Given the description of an element on the screen output the (x, y) to click on. 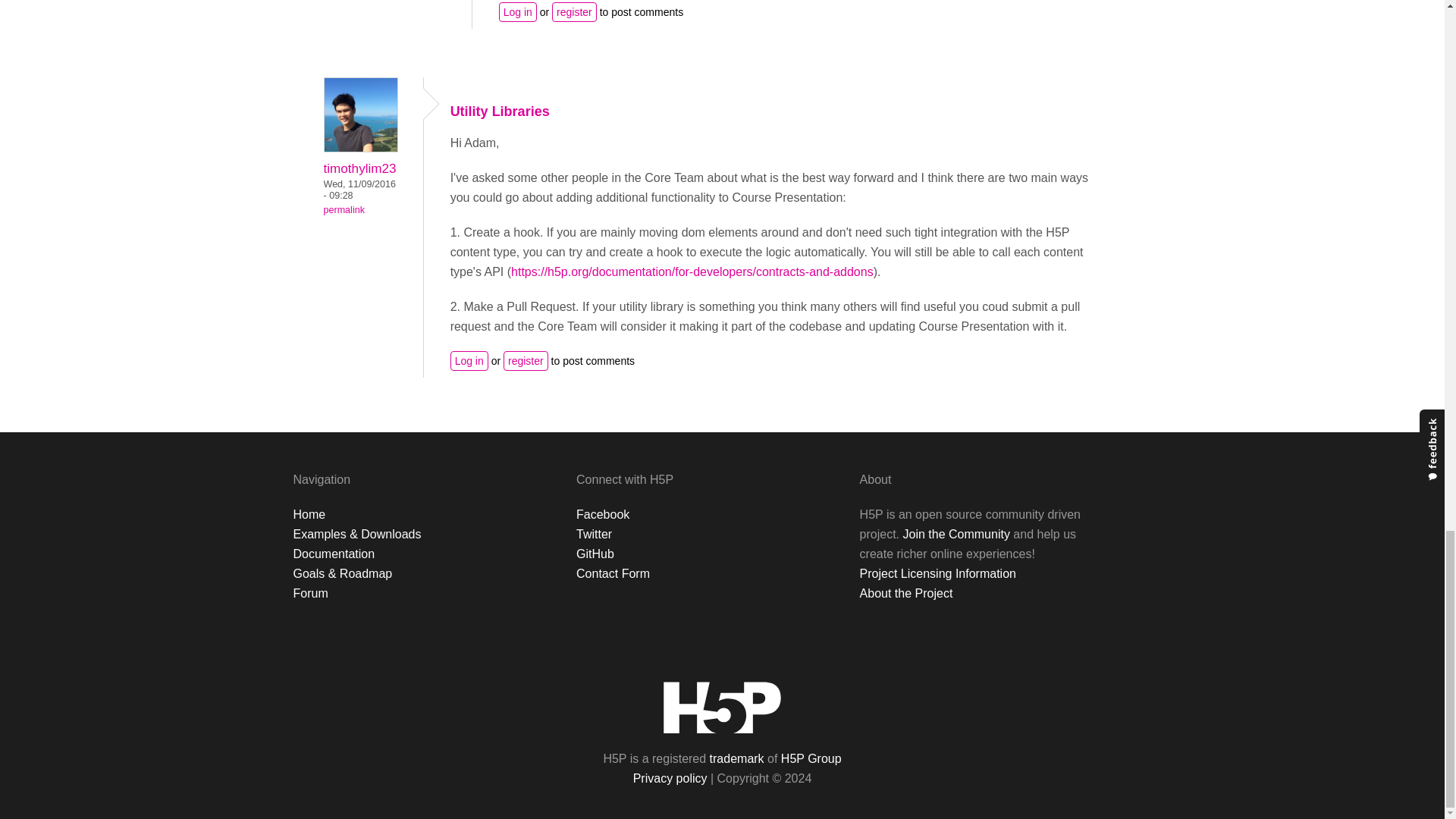
register (573, 12)
timothylim23 (359, 168)
register (525, 361)
Utility Libraries (499, 111)
Log in (518, 12)
View user profile. (360, 147)
permalink (343, 209)
View user profile. (359, 168)
Log in (468, 361)
timothylim23's picture (360, 114)
